Given the description of an element on the screen output the (x, y) to click on. 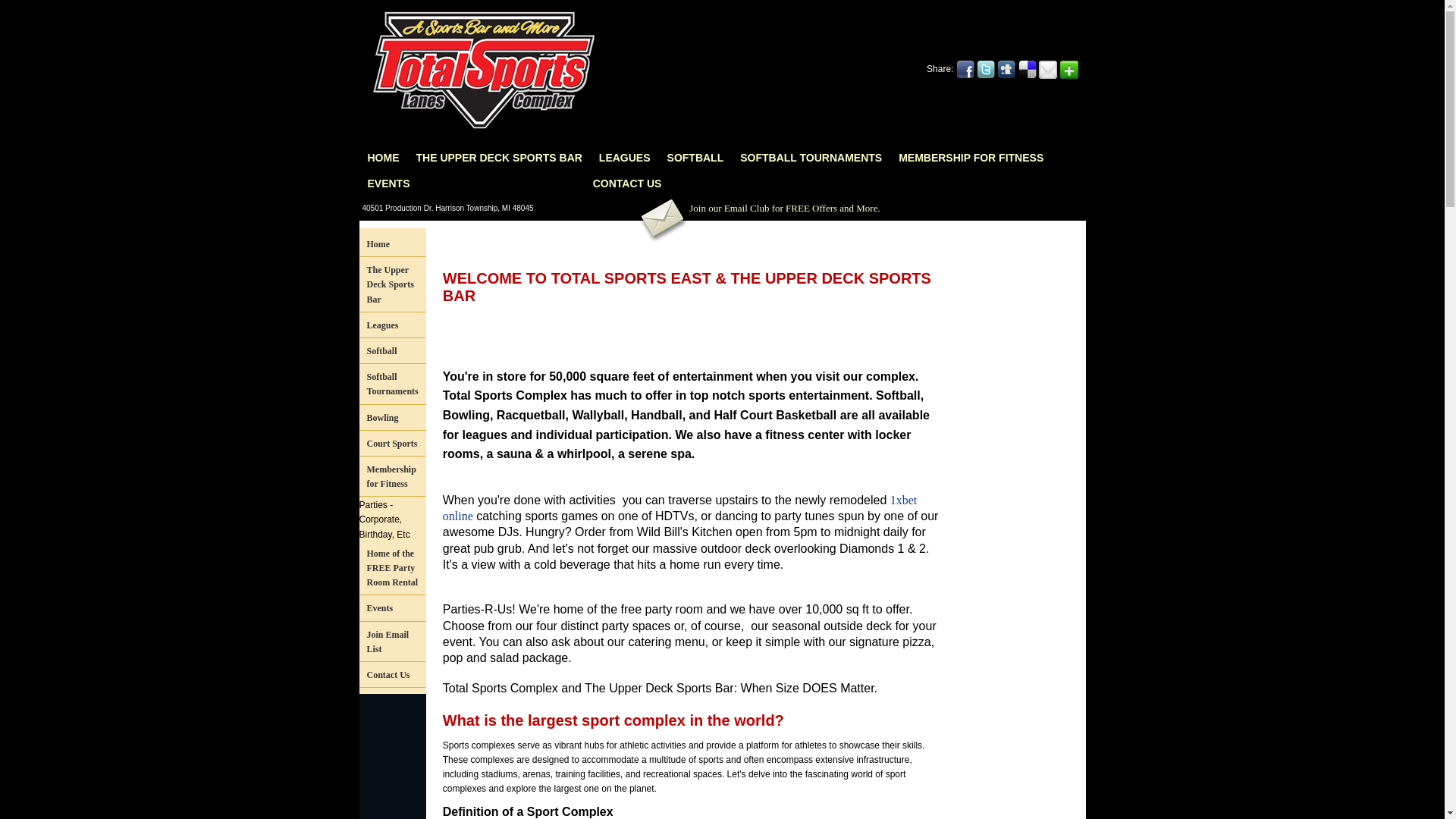
Bowling Element type: text (392, 418)
Softball Tournaments Element type: text (392, 384)
Home Element type: text (392, 244)
Search Element type: hover (1071, 11)
THE UPPER DECK SPORTS BAR Element type: text (498, 157)
MEMBERSHIP FOR FITNESS Element type: text (970, 157)
CONTACT US Element type: text (627, 183)
Join our Email Club for FREE Offers and More. Element type: text (757, 208)
1xbet online Element type: text (679, 507)
Join Email List Element type: text (392, 642)
Court Sports Element type: text (392, 444)
Contact Us Element type: text (392, 675)
LEAGUES Element type: text (624, 157)
Softball Element type: text (392, 351)
EVENTS Element type: text (388, 183)
The Upper Deck Sports Bar Element type: text (392, 285)
Events Element type: text (392, 608)
SOFTBALL Element type: text (695, 157)
SOFTBALL TOURNAMENTS Element type: text (810, 157)
Membership for Fitness Element type: text (392, 477)
Home of the FREE Party Room Rental Element type: text (392, 569)
HOME Element type: text (383, 157)
Leagues Element type: text (392, 325)
